Given the description of an element on the screen output the (x, y) to click on. 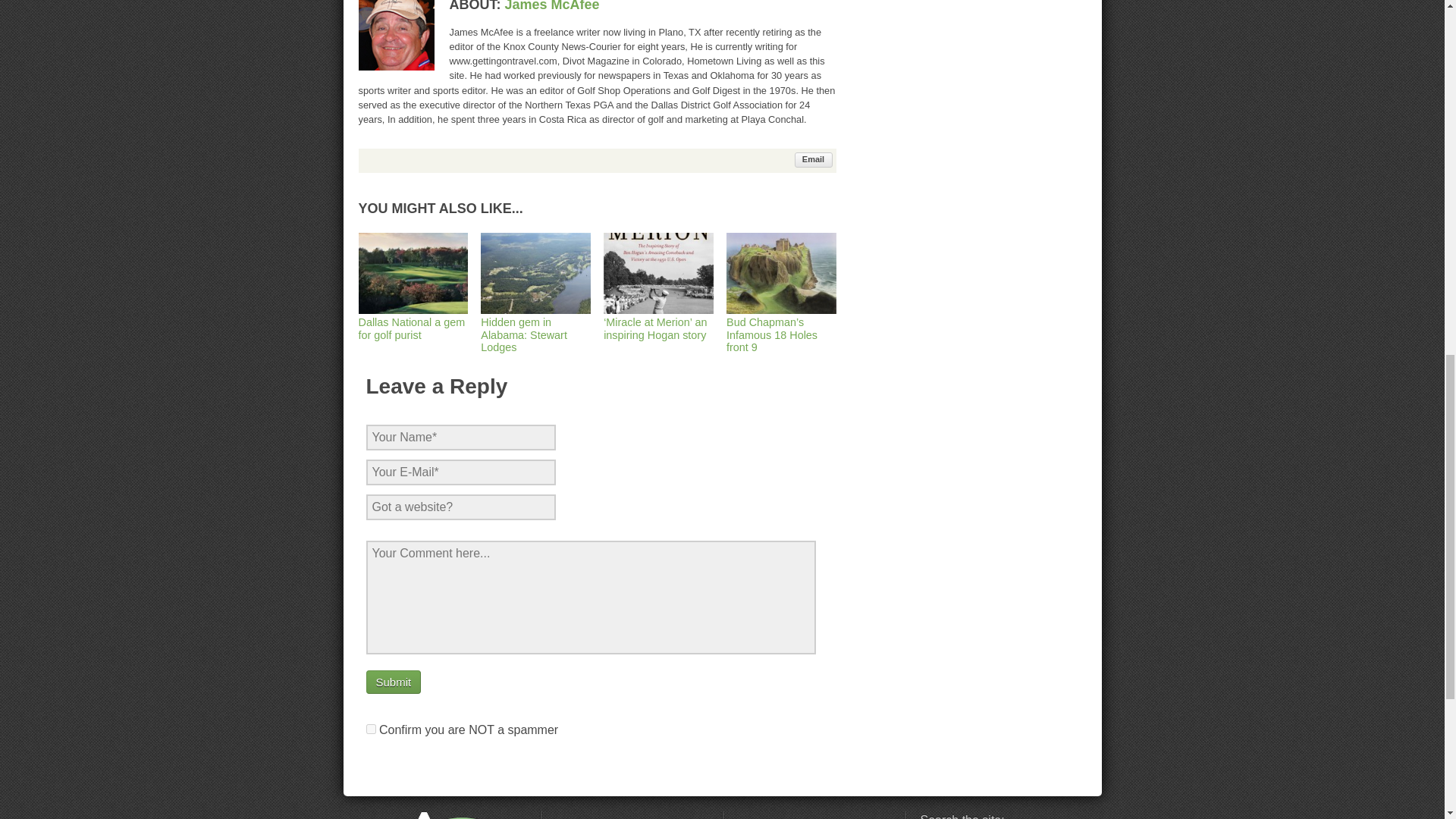
Dallas National a gem for golf purist (412, 321)
Hidden gem in Alabama: Stewart Lodges (534, 327)
Dallas National a gem for golf purist (412, 321)
Submit (392, 681)
Email (813, 159)
Submit (392, 681)
James McAfee (552, 6)
on (370, 728)
Hidden gem in Alabama: Stewart Lodges (534, 327)
